Given the description of an element on the screen output the (x, y) to click on. 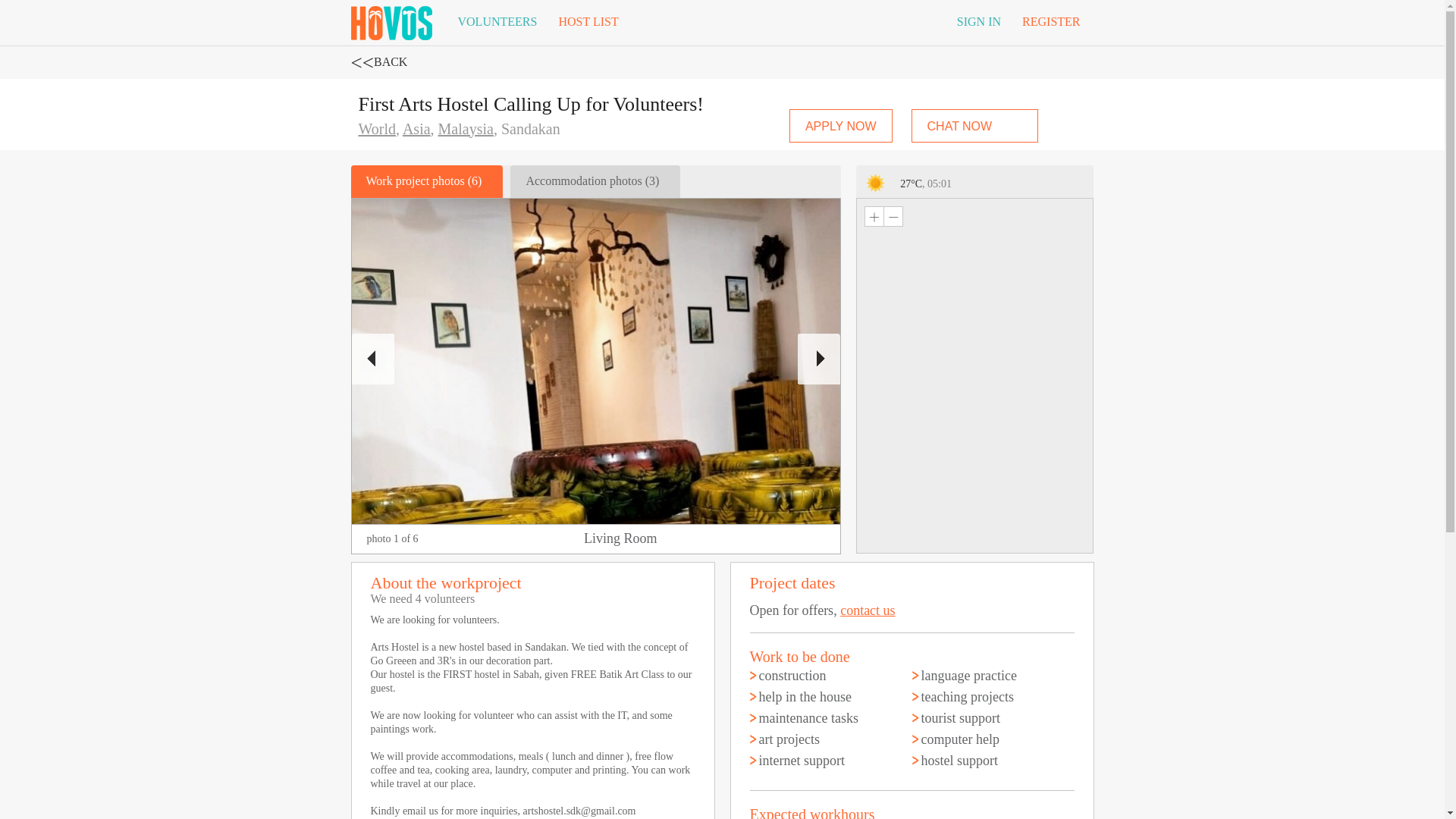
Hovos (390, 20)
SIGN IN (978, 22)
World (377, 128)
VOLUNTEERS (497, 22)
Asia (416, 128)
APPLY NOW (840, 125)
CHAT NOW (975, 125)
REGISTER (1050, 22)
HOST LIST (587, 22)
Malaysia (465, 128)
